Given the description of an element on the screen output the (x, y) to click on. 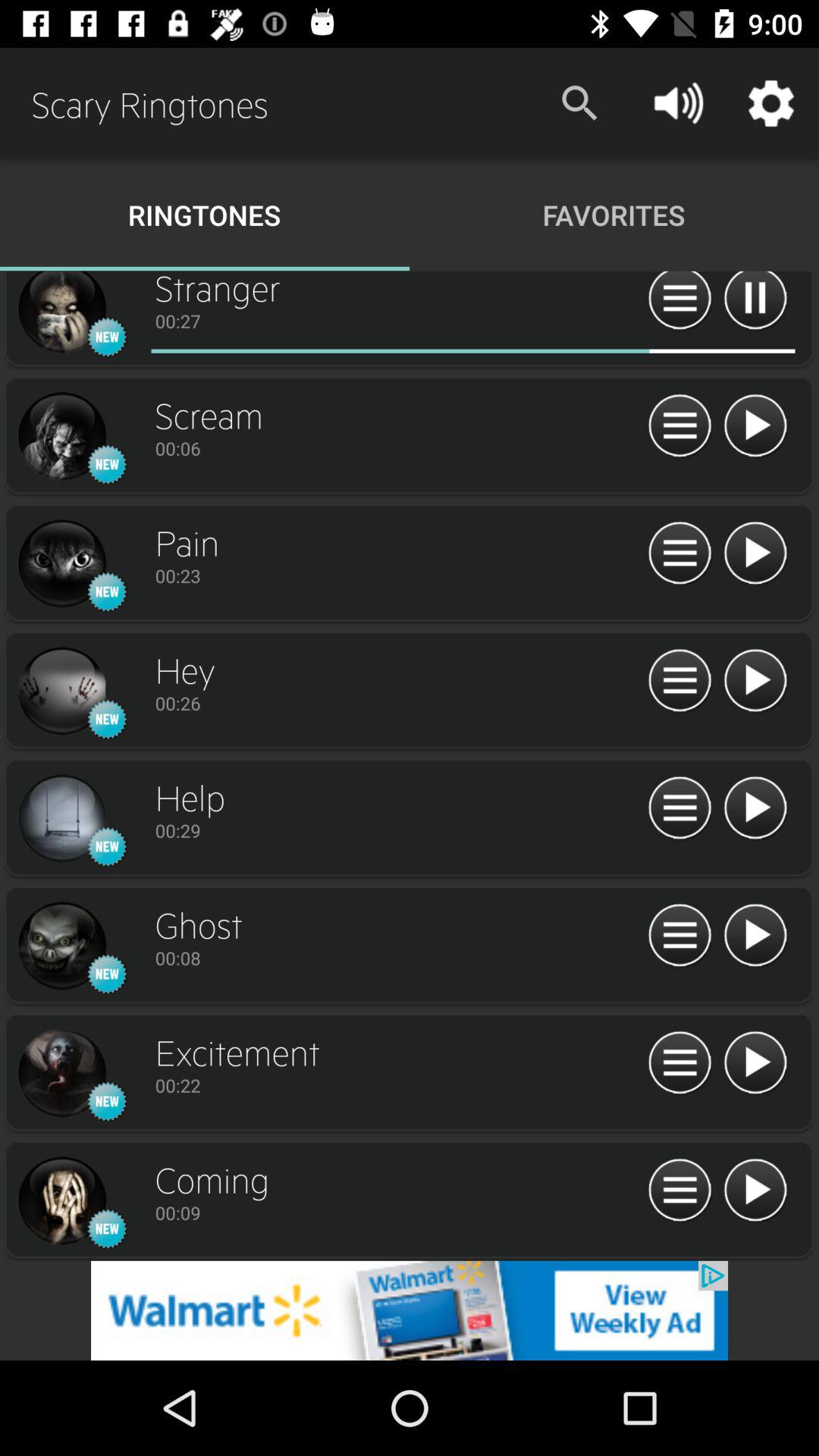
play ringtone (755, 681)
